Given the description of an element on the screen output the (x, y) to click on. 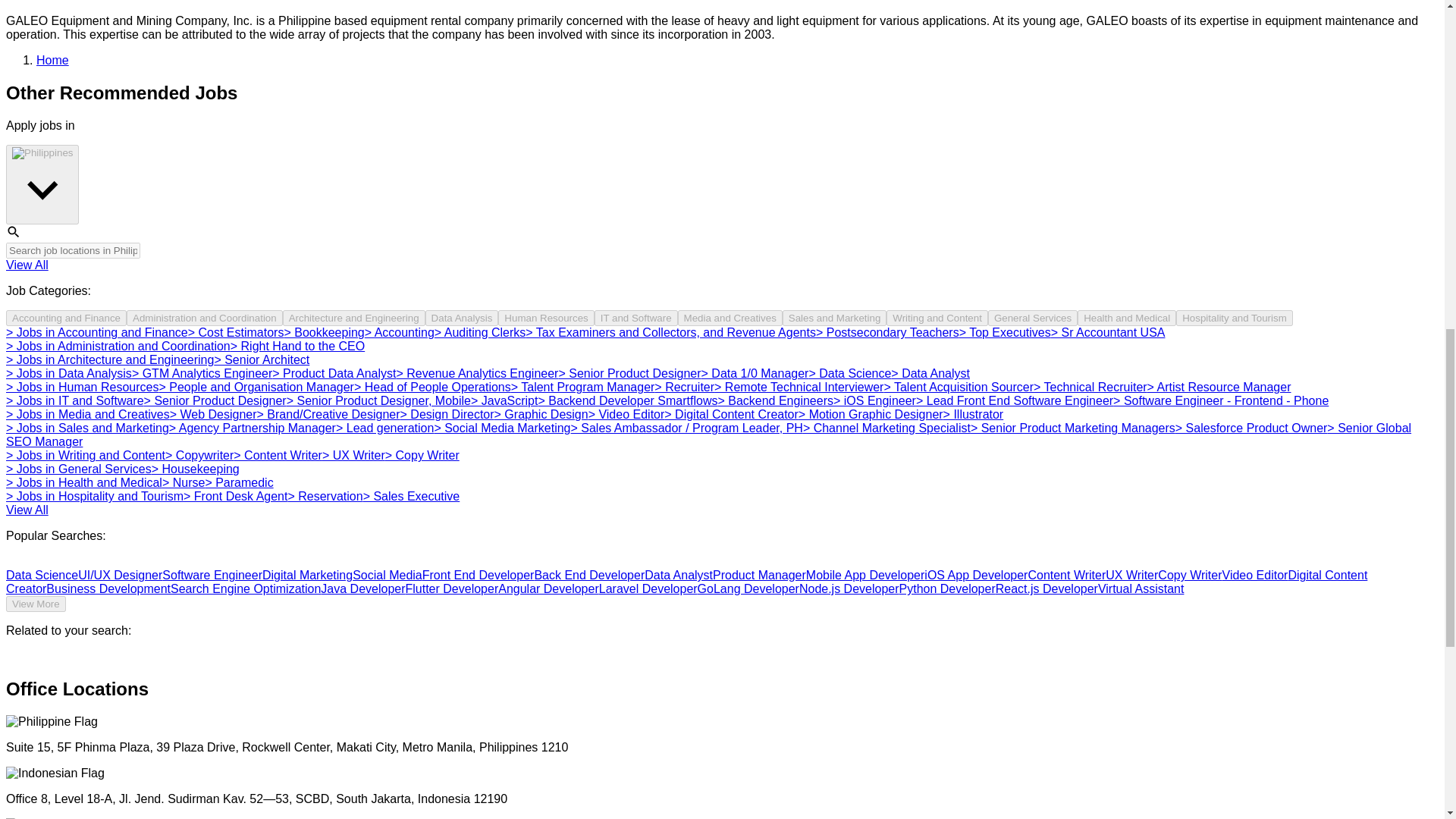
Writing and Content (937, 317)
Health and Medical (1126, 317)
Hospitality and Tourism (1234, 317)
Media and Creatives (730, 317)
Human Resources (545, 317)
Accounting and Finance (65, 317)
IT and Software (636, 317)
Administration and Coordination (204, 317)
Data Analysis (462, 317)
Architecture and Engineering (353, 317)
Home (52, 60)
General Services (1032, 317)
Sales and Marketing (834, 317)
View All (26, 264)
